Given the description of an element on the screen output the (x, y) to click on. 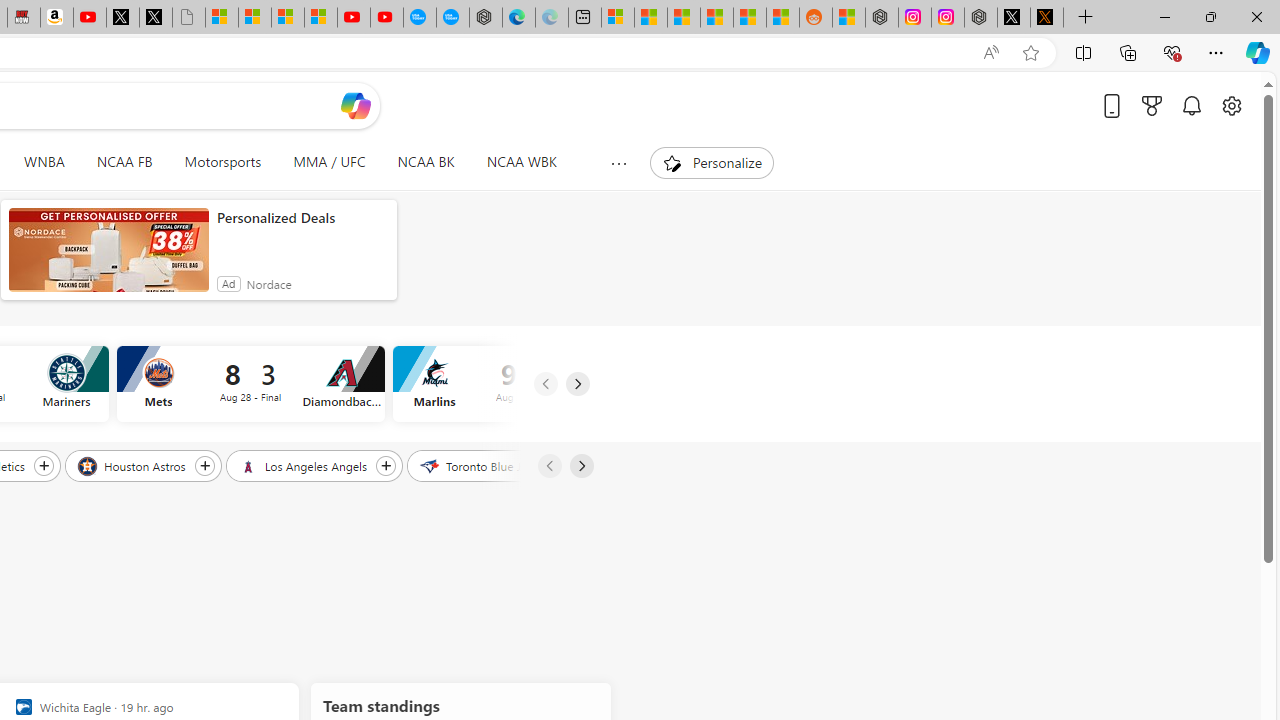
Follow Los Angeles Angels (386, 465)
Mets 8 vs Diamondbacks 3Final Date Aug 28 (250, 383)
Personalize (711, 162)
